Given the description of an element on the screen output the (x, y) to click on. 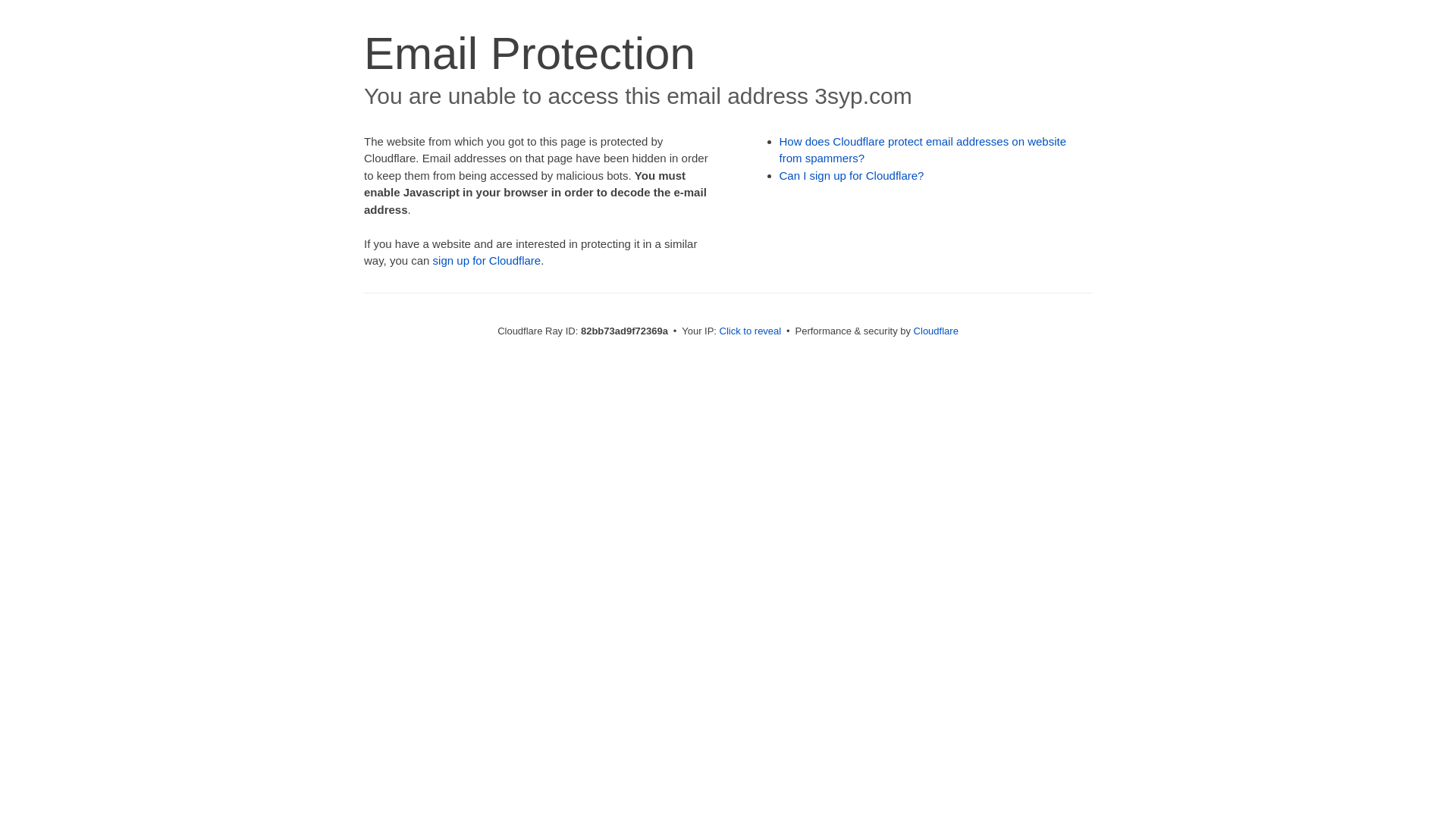
Cloudflare Element type: text (935, 330)
Click to reveal Element type: text (750, 330)
Can I sign up for Cloudflare? Element type: text (851, 175)
sign up for Cloudflare Element type: text (487, 260)
